Given the description of an element on the screen output the (x, y) to click on. 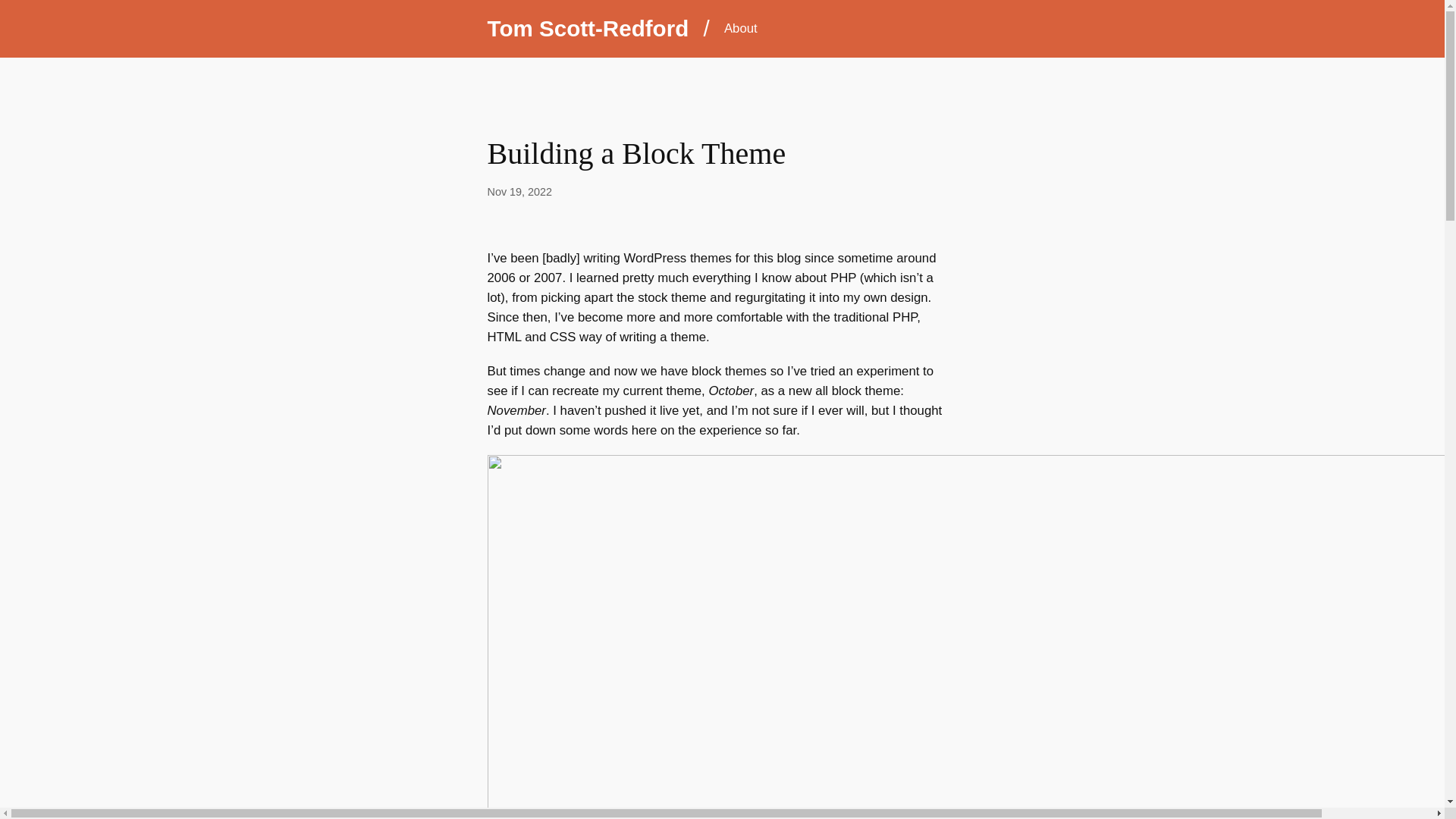
Tom Scott-Redford (587, 27)
Nov 19, 2022 (518, 191)
About (740, 28)
